Given the description of an element on the screen output the (x, y) to click on. 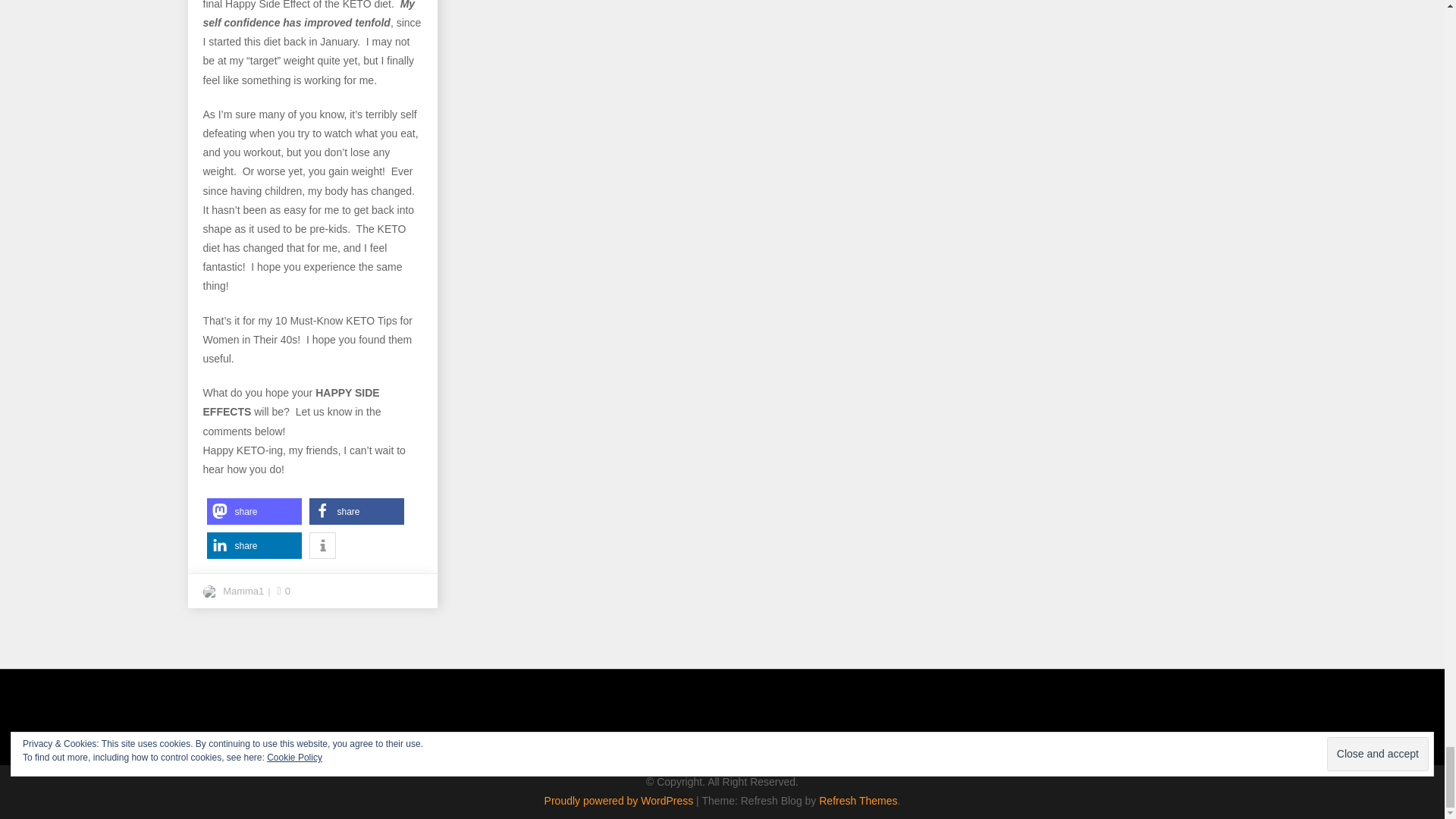
Share on LinkedIn (253, 545)
Share on Mastodon (253, 510)
Share on Facebook (356, 510)
More information (322, 545)
